Given the description of an element on the screen output the (x, y) to click on. 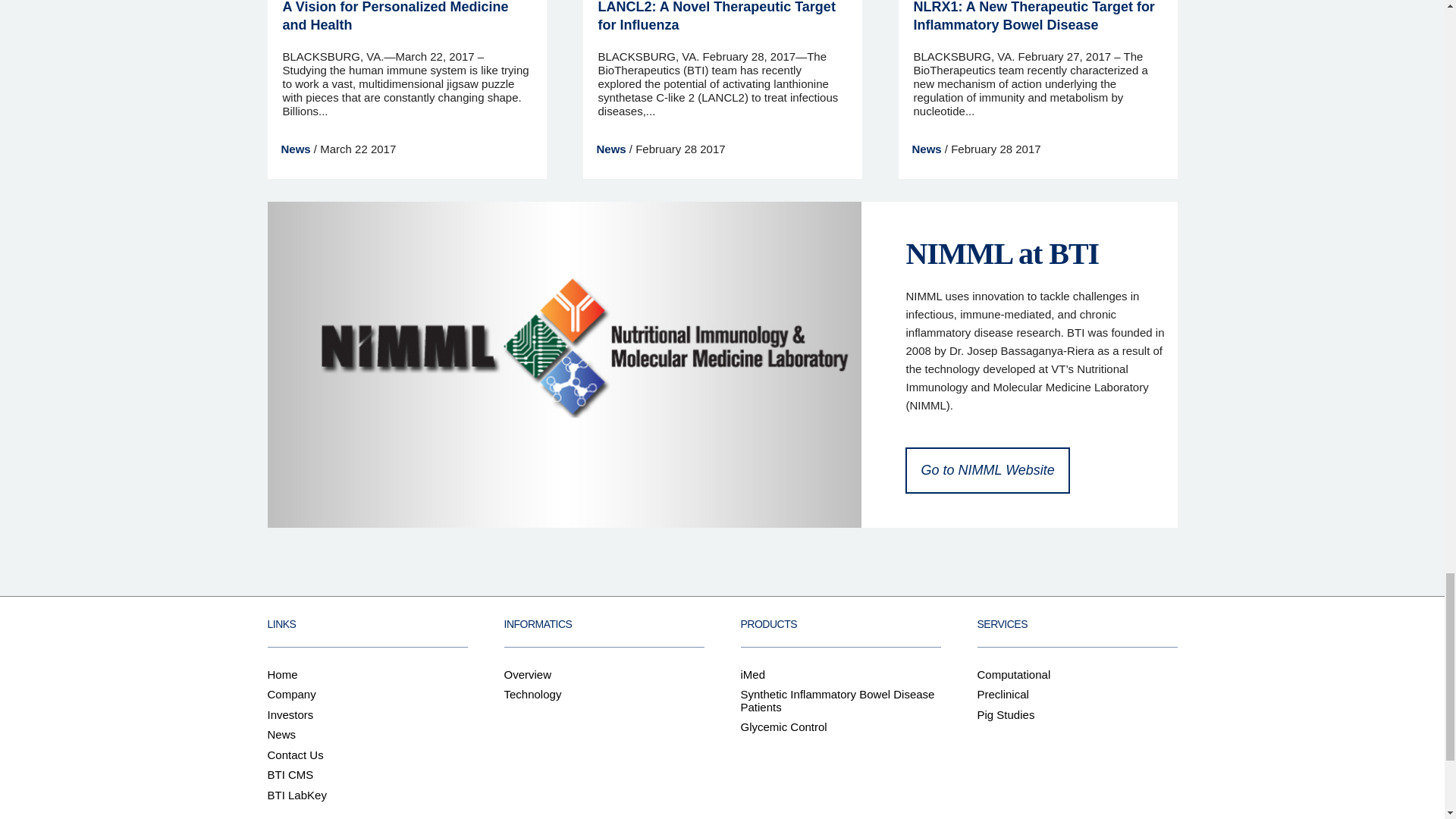
LANCL2: A Novel Therapeutic Target for Influenza (715, 15)
A Vision for Personalized Medicine and Health (395, 15)
Go to NIMML Website (986, 470)
